Given the description of an element on the screen output the (x, y) to click on. 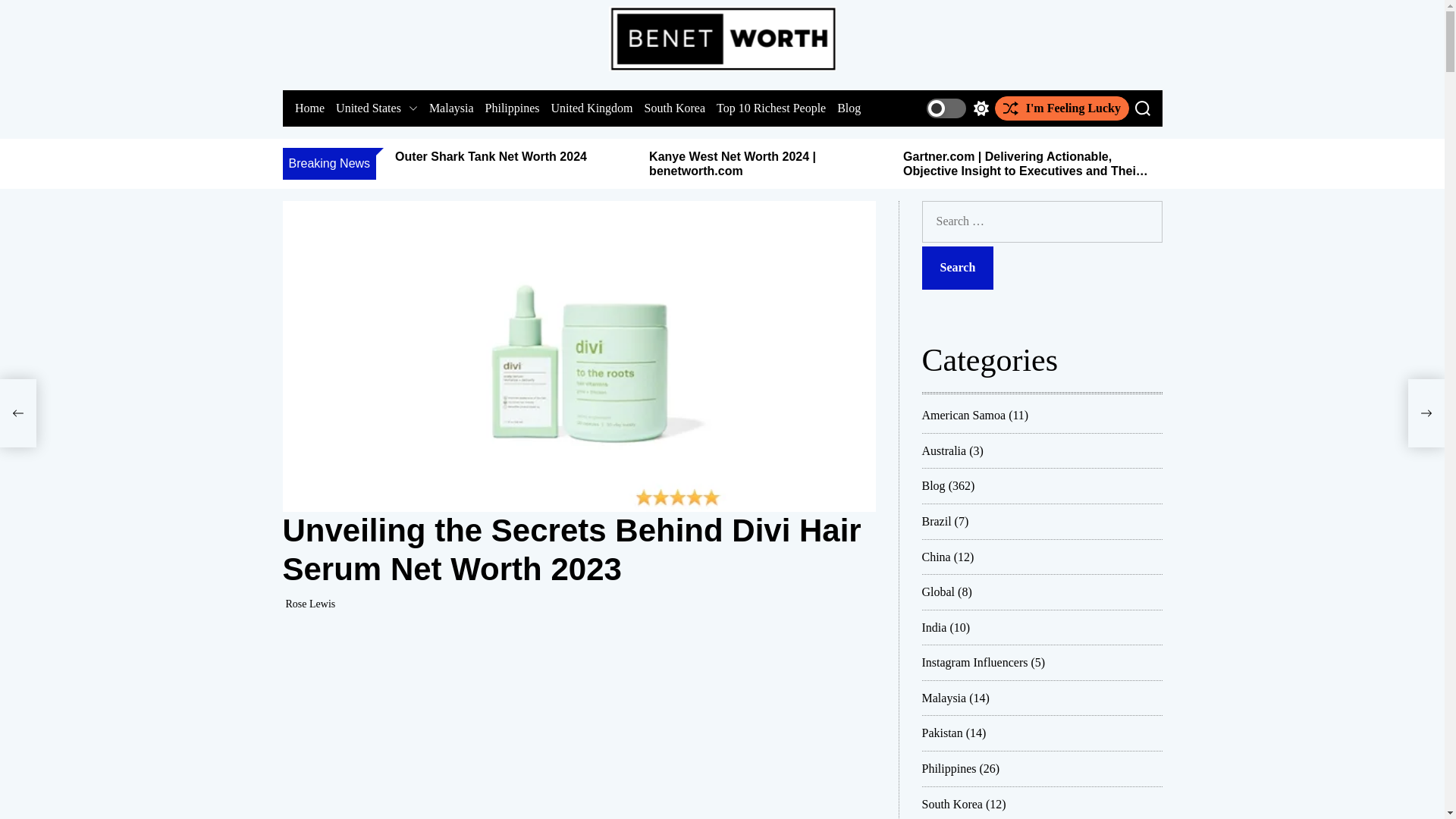
United Kingdom (590, 108)
Switch color mode (957, 107)
Search (1142, 108)
Blog (848, 108)
Rose Lewis (309, 603)
South Korea (673, 108)
Philippines (511, 108)
Home (308, 108)
I'm Feeling Lucky (1061, 108)
Malaysia (450, 108)
Outer Shark Tank Net Worth 2024 (490, 155)
Top 10 Richest People (770, 108)
Search (957, 267)
United States (376, 108)
